Given the description of an element on the screen output the (x, y) to click on. 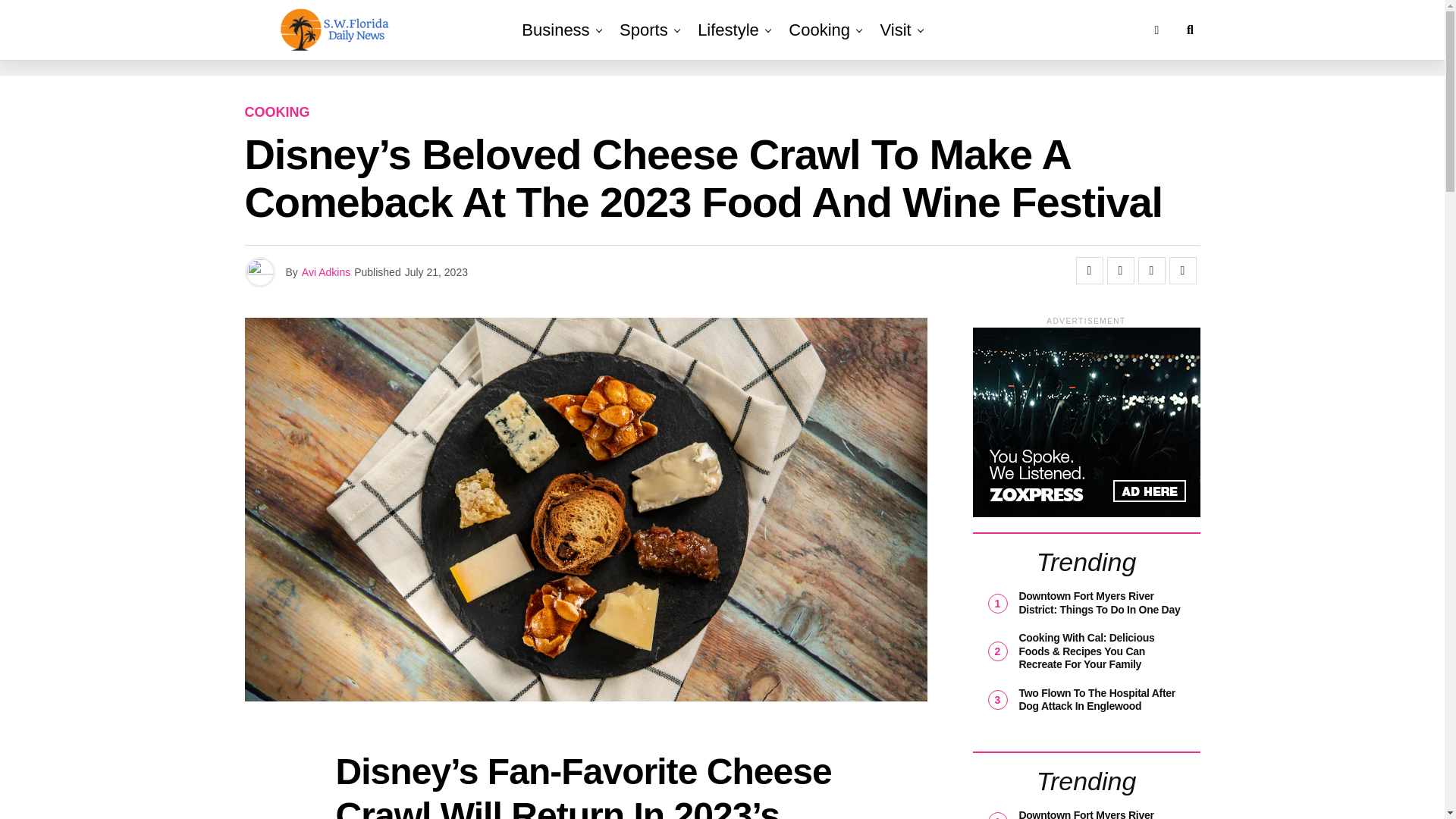
Business (554, 30)
Cooking (818, 30)
Share on Facebook (1088, 270)
Tweet This Post (1120, 270)
Sports (643, 30)
Posts by Avi Adkins (325, 272)
Lifestyle (728, 30)
